Given the description of an element on the screen output the (x, y) to click on. 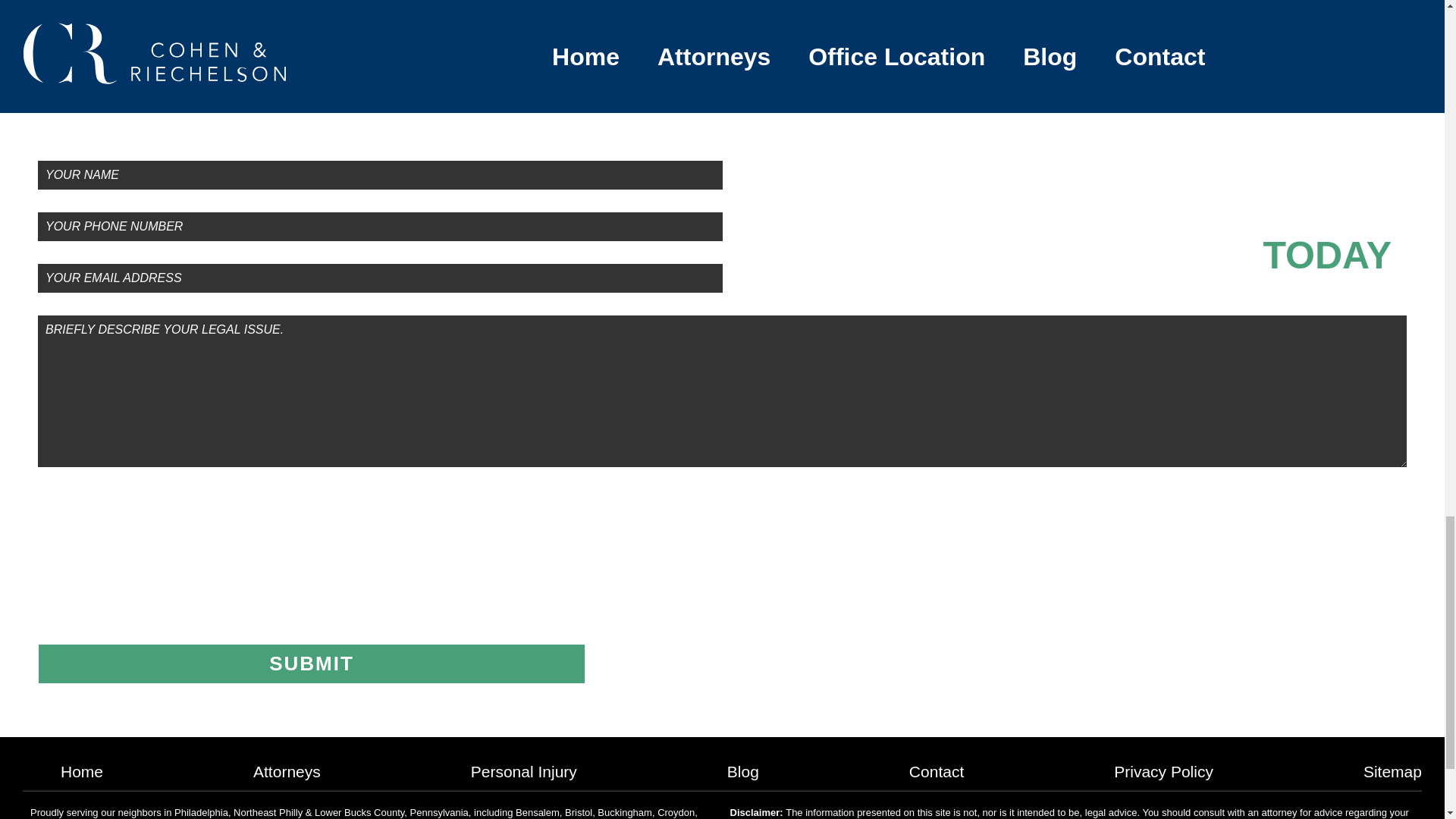
Submit (311, 663)
